Given the description of an element on the screen output the (x, y) to click on. 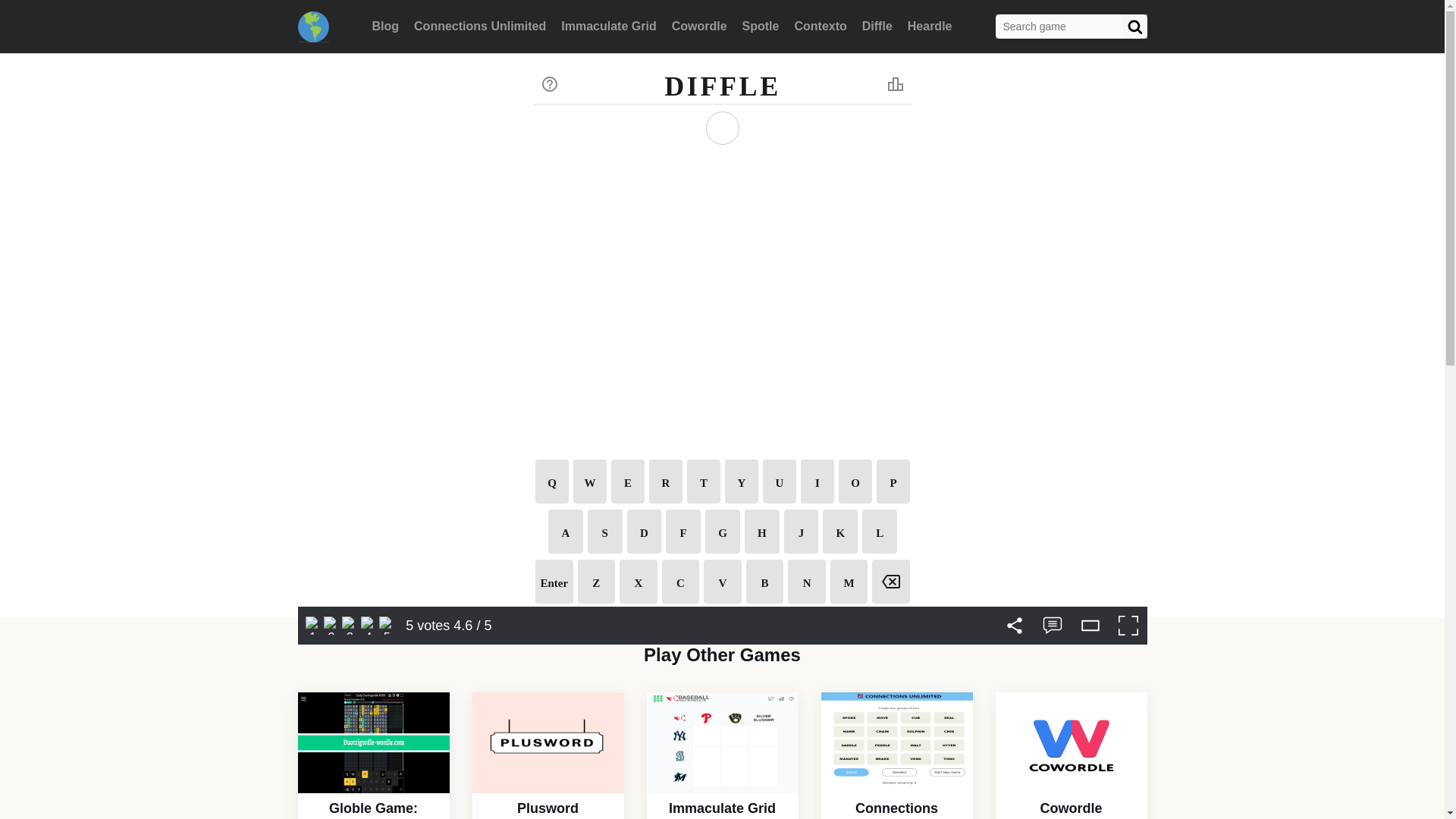
Cowordle (1070, 742)
Blog (386, 26)
Connections Unlimited (479, 26)
Contexto (819, 26)
Connections Unlimited  (896, 742)
Globle Game (313, 25)
Cowordle (699, 26)
Diffle (876, 26)
Heardle (929, 26)
